Given the description of an element on the screen output the (x, y) to click on. 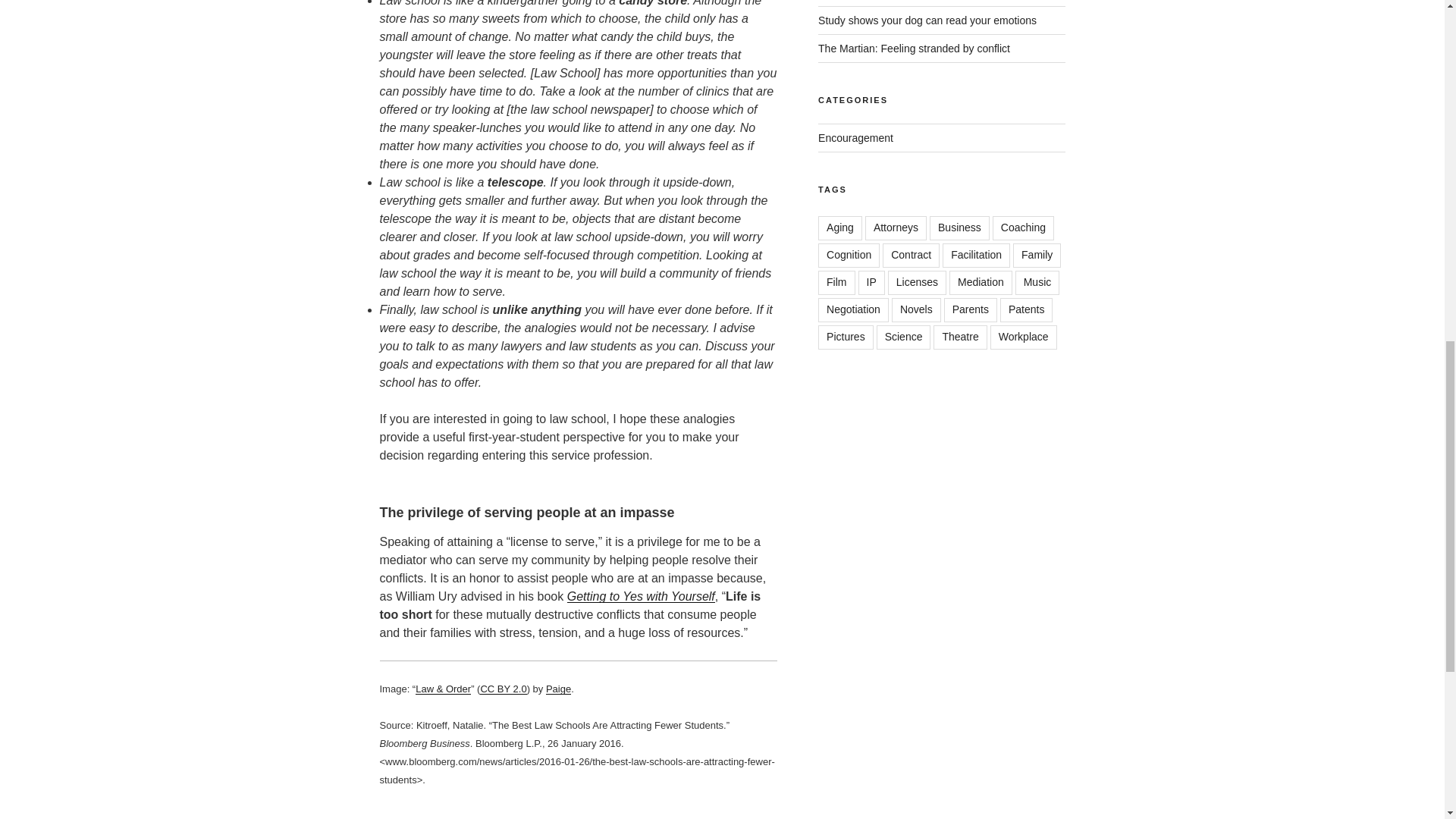
CC BY 2.0 (502, 688)
Paige (558, 688)
Getting to Yes with Yourself (640, 595)
